Given the description of an element on the screen output the (x, y) to click on. 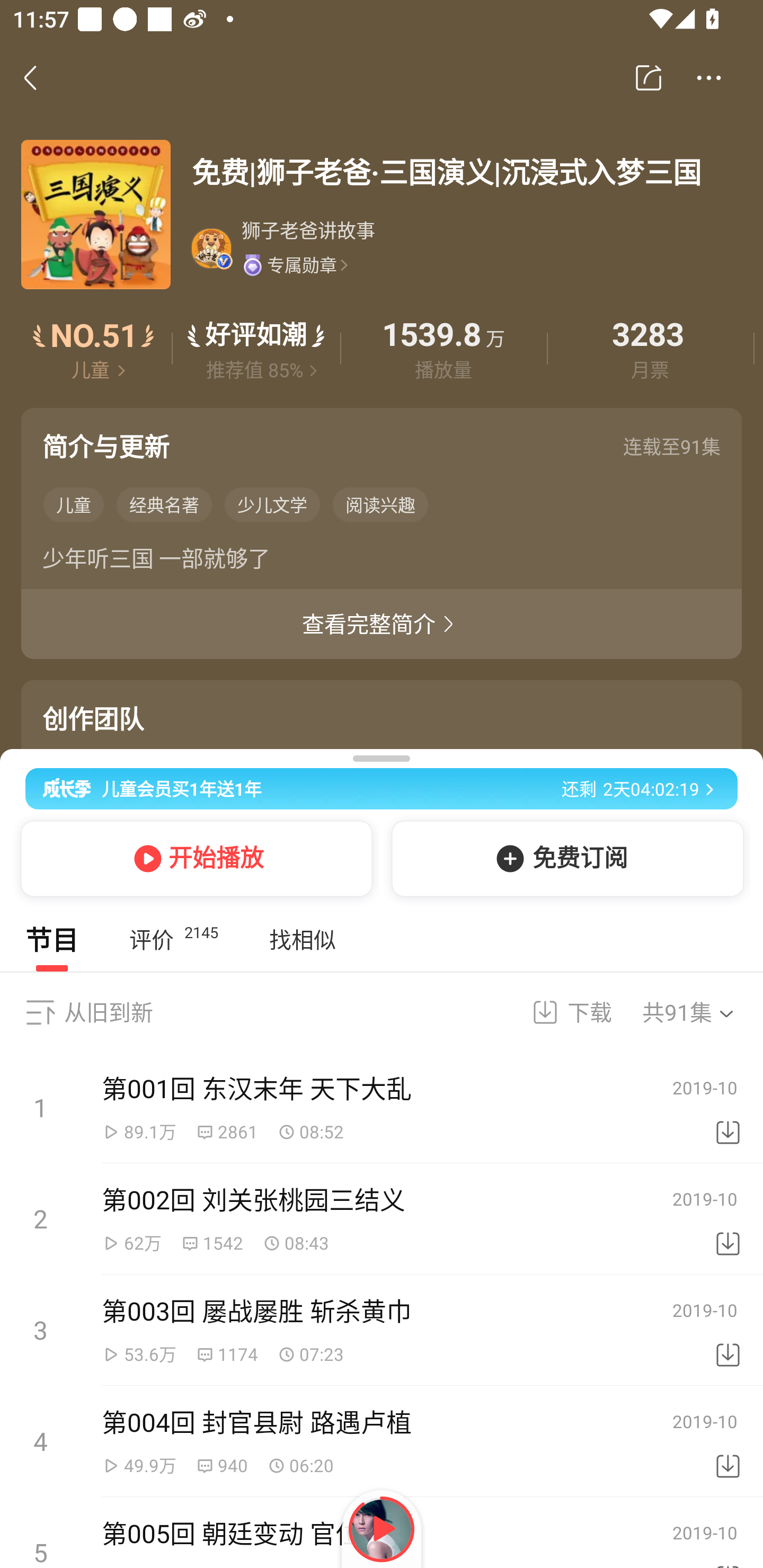
返回 (40, 77)
分享 (648, 78)
更多 (709, 78)
免费|狮子老爸·三国演义|沉浸式入梦三国 (466, 171)
狮子老爸讲故事 专属勋章 (465, 248)
专属勋章 (294, 263)
排行榜 (93, 348)
评价 (255, 348)
儿童 (73, 504)
经典名著 (164, 504)
少儿文学 (271, 504)
阅读兴趣 (380, 504)
少年听三国 一部就够了 (381, 561)
查看完整简介 (381, 623)
儿童会员买1年送1年 还剩 2天 04 : 02 : 19 (381, 785)
开始播放 (193, 858)
免费订阅 (564, 858)
节目 (51, 939)
评价  2145 (173, 939)
找相似 (302, 939)
排序，从旧到新 (40, 1012)
从旧到新 (108, 1012)
下载 (559, 1012)
共91集 选集，共91集 (700, 1012)
1 第001回 东汉末年 天下大乱 2019-10 89.1万 2861 08:52 下载 (381, 1107)
下载 (728, 1108)
2 第002回 刘关张桃园三结义 2019-10 62万 1542 08:43 下载 (381, 1218)
下载 (728, 1218)
3 第003回 屡战屡胜 斩杀黄巾 2019-10 53.6万 1174 07:23 下载 (381, 1330)
下载 (728, 1330)
4 第004回 封官县尉 路遇卢植 2019-10 49.9万 940 06:20 下载 (381, 1441)
下载 (728, 1441)
5 第005回 朝廷变动 官位不保 2019-10 46.6万 793 06:00 下载 (381, 1532)
继续播放Alpha-橘子海OrangeOcean (381, 1529)
